Given the description of an element on the screen output the (x, y) to click on. 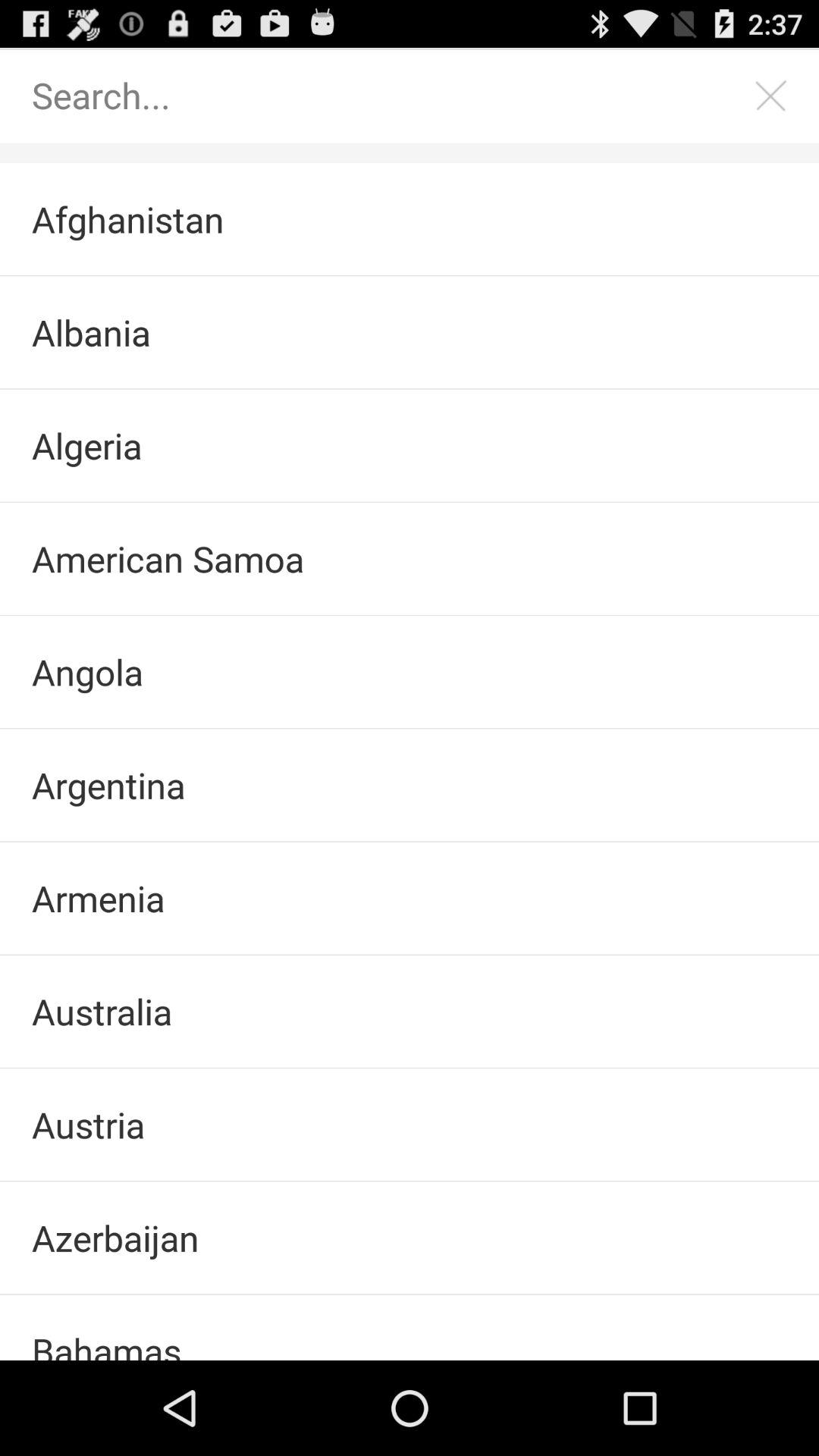
click icon below the austria (409, 1237)
